Given the description of an element on the screen output the (x, y) to click on. 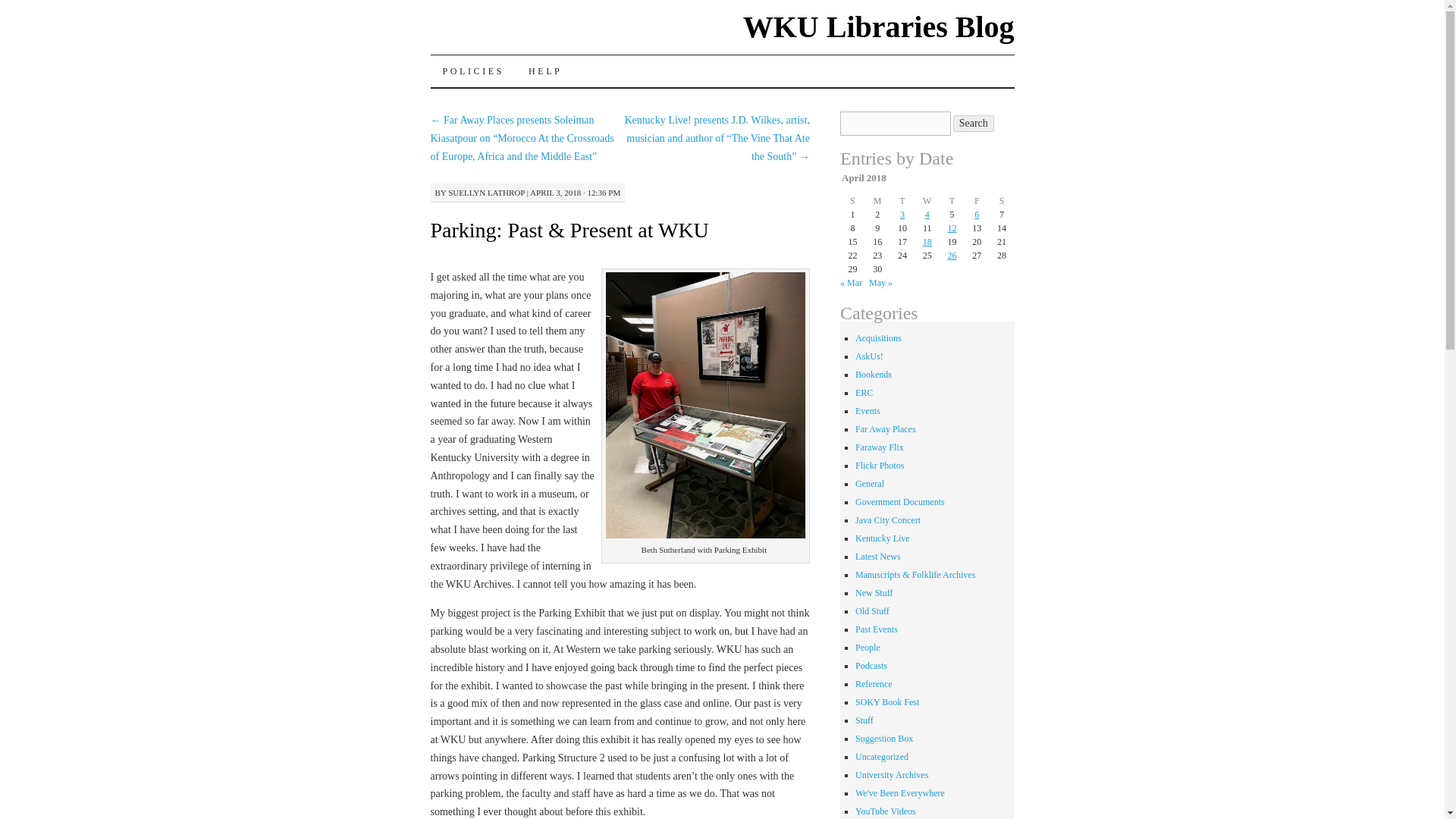
SUELLYN LATHROP (486, 192)
Search (973, 123)
Saturday (1002, 201)
Sunday (852, 201)
Government Documents (900, 501)
Acquisitions (878, 337)
WKU Libraries Blog (878, 26)
POLICIES (473, 70)
Friday (976, 201)
View all posts by Suellyn Lathrop (486, 192)
